Given the description of an element on the screen output the (x, y) to click on. 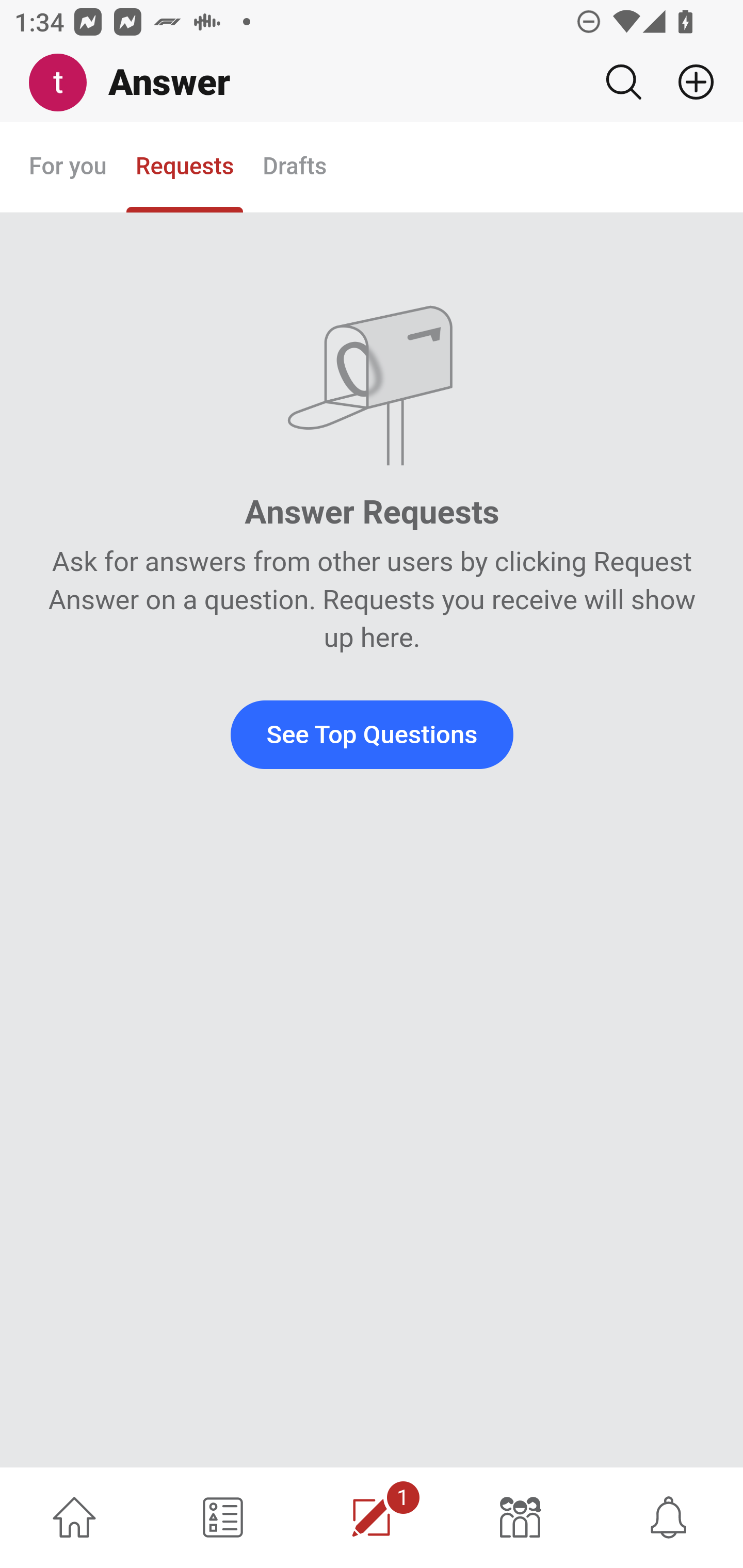
Me (64, 83)
Search (623, 82)
Add (688, 82)
For you (68, 167)
Requests (183, 167)
Drafts (295, 167)
See Top Questions (371, 734)
